Given the description of an element on the screen output the (x, y) to click on. 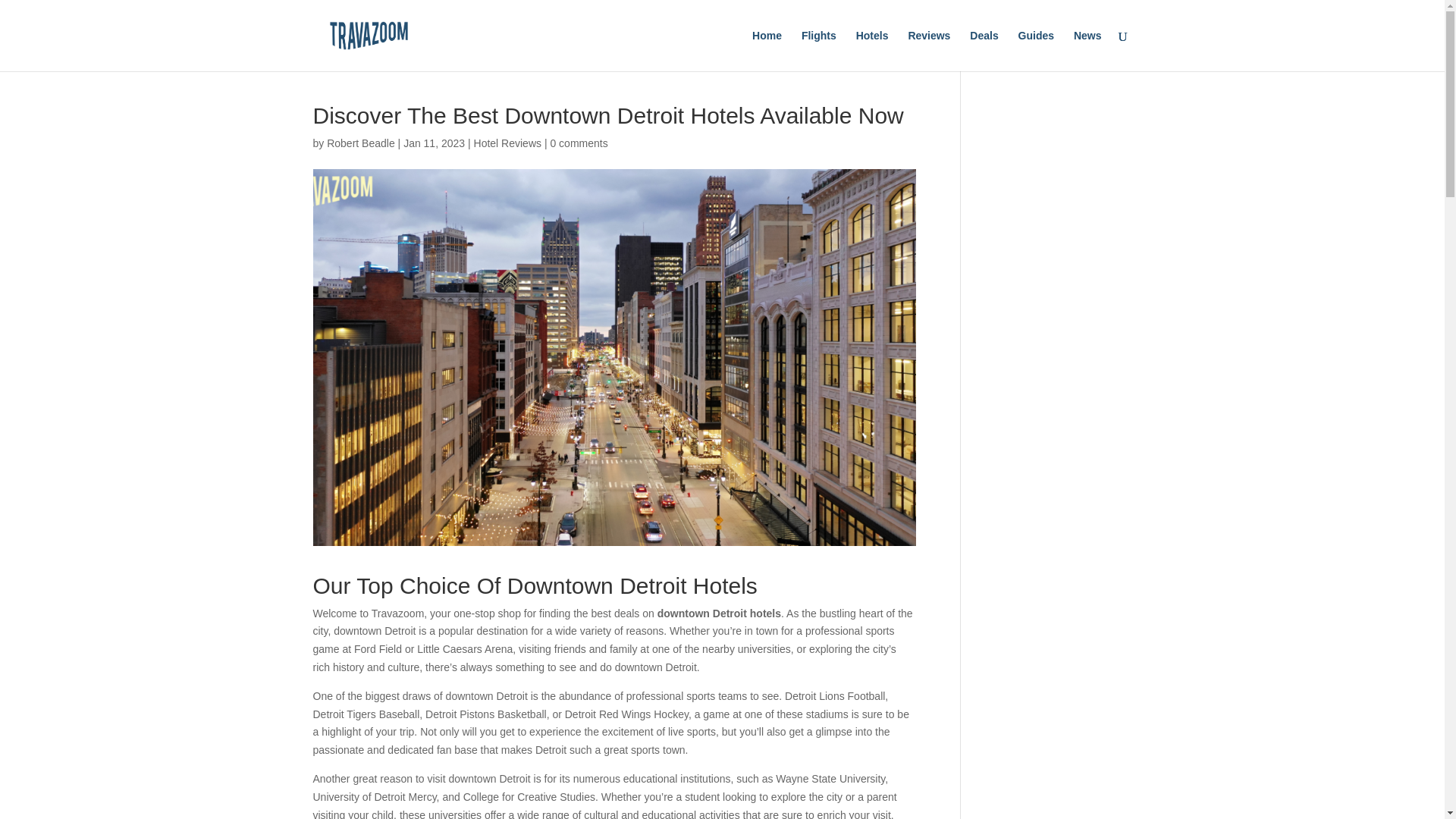
Deals (983, 50)
Guides (1035, 50)
Reviews (928, 50)
Home (766, 50)
0 comments (578, 143)
Hotels (872, 50)
Robert Beadle (360, 143)
Hotel Reviews (507, 143)
Posts by Robert Beadle (360, 143)
News (1088, 50)
Flights (818, 50)
